Given the description of an element on the screen output the (x, y) to click on. 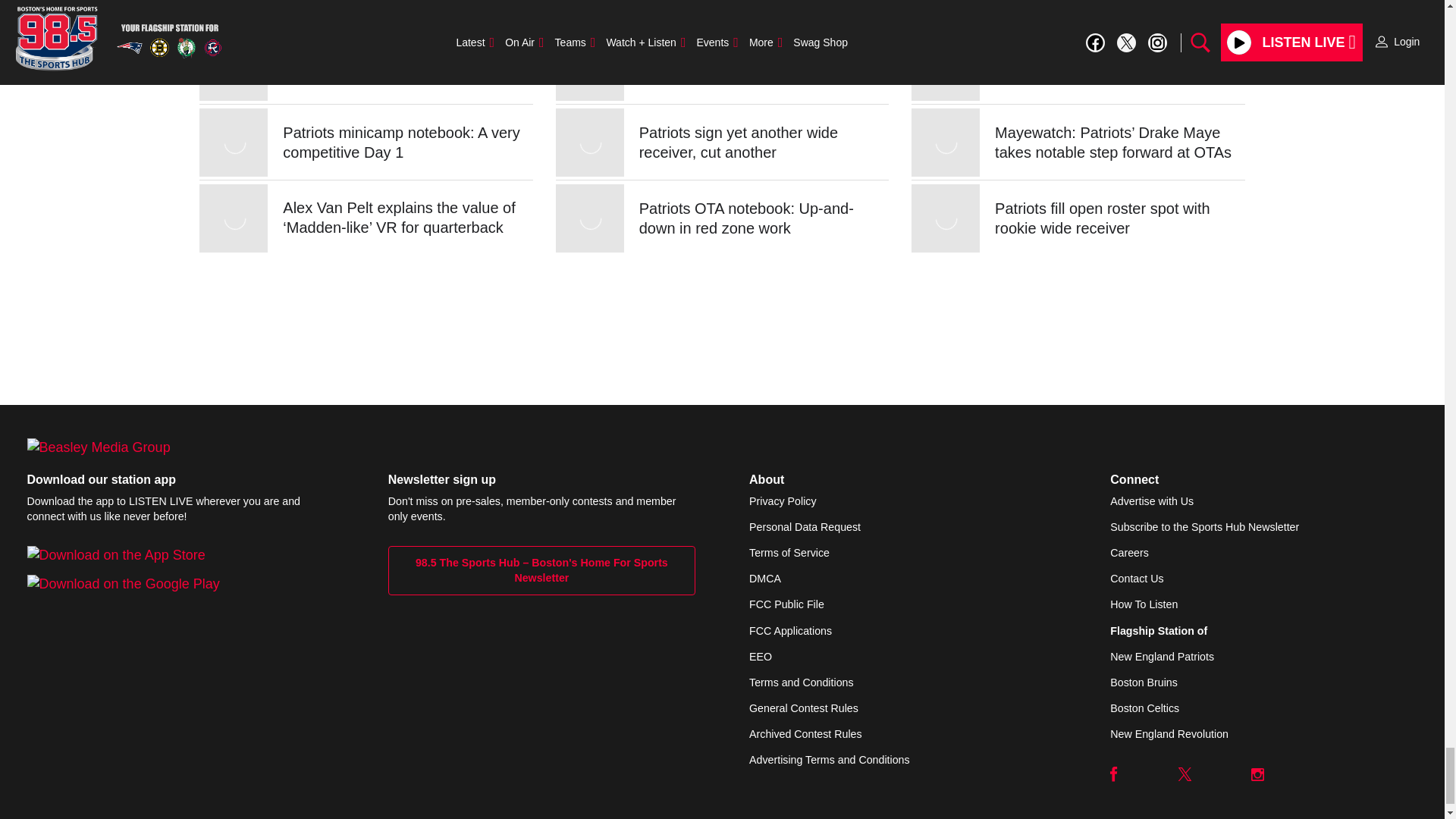
Instagram (1256, 774)
Twitter (1184, 774)
